Given the description of an element on the screen output the (x, y) to click on. 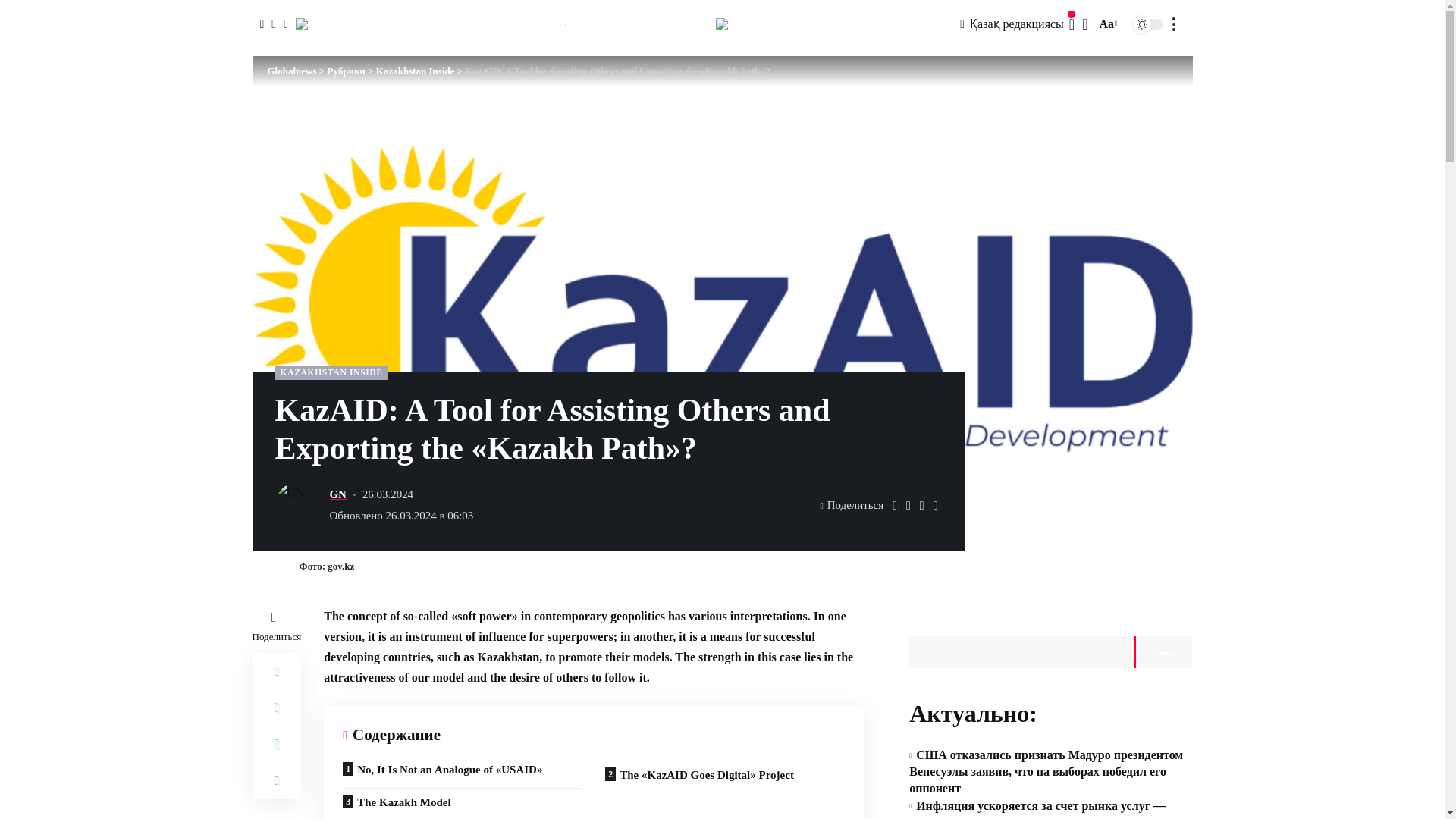
Globalnews (722, 24)
Aa (1105, 23)
